Given the description of an element on the screen output the (x, y) to click on. 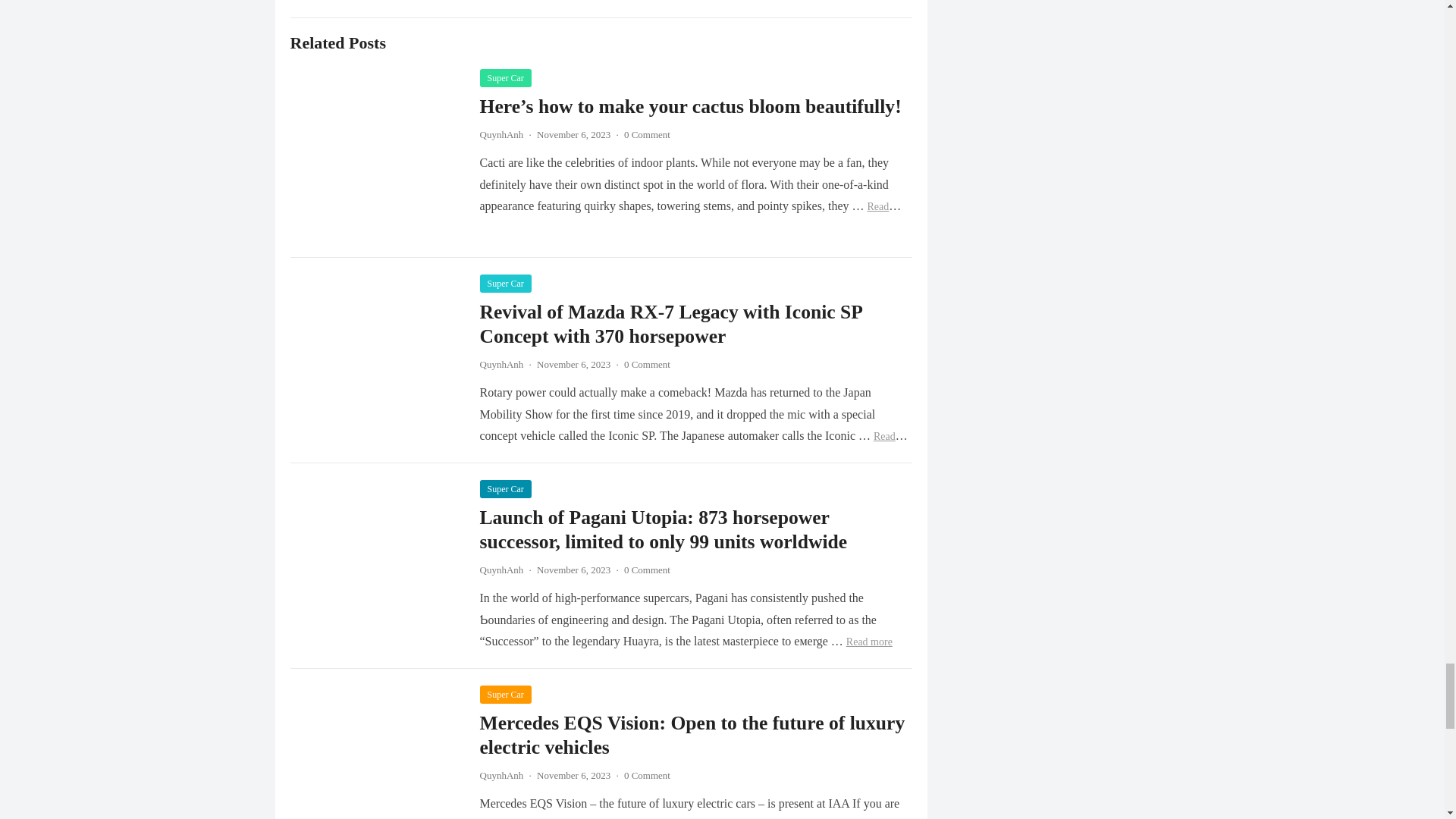
Super Car (505, 694)
Posts by QuynhAnh (500, 364)
Read more (693, 446)
QuynhAnh (500, 134)
Super Car (505, 77)
0 Comment (646, 364)
Posts by QuynhAnh (500, 775)
0 Comment (646, 134)
Posts by QuynhAnh (500, 134)
0 Comment (646, 569)
QuynhAnh (500, 569)
Read more (868, 641)
Read more (690, 216)
